Given the description of an element on the screen output the (x, y) to click on. 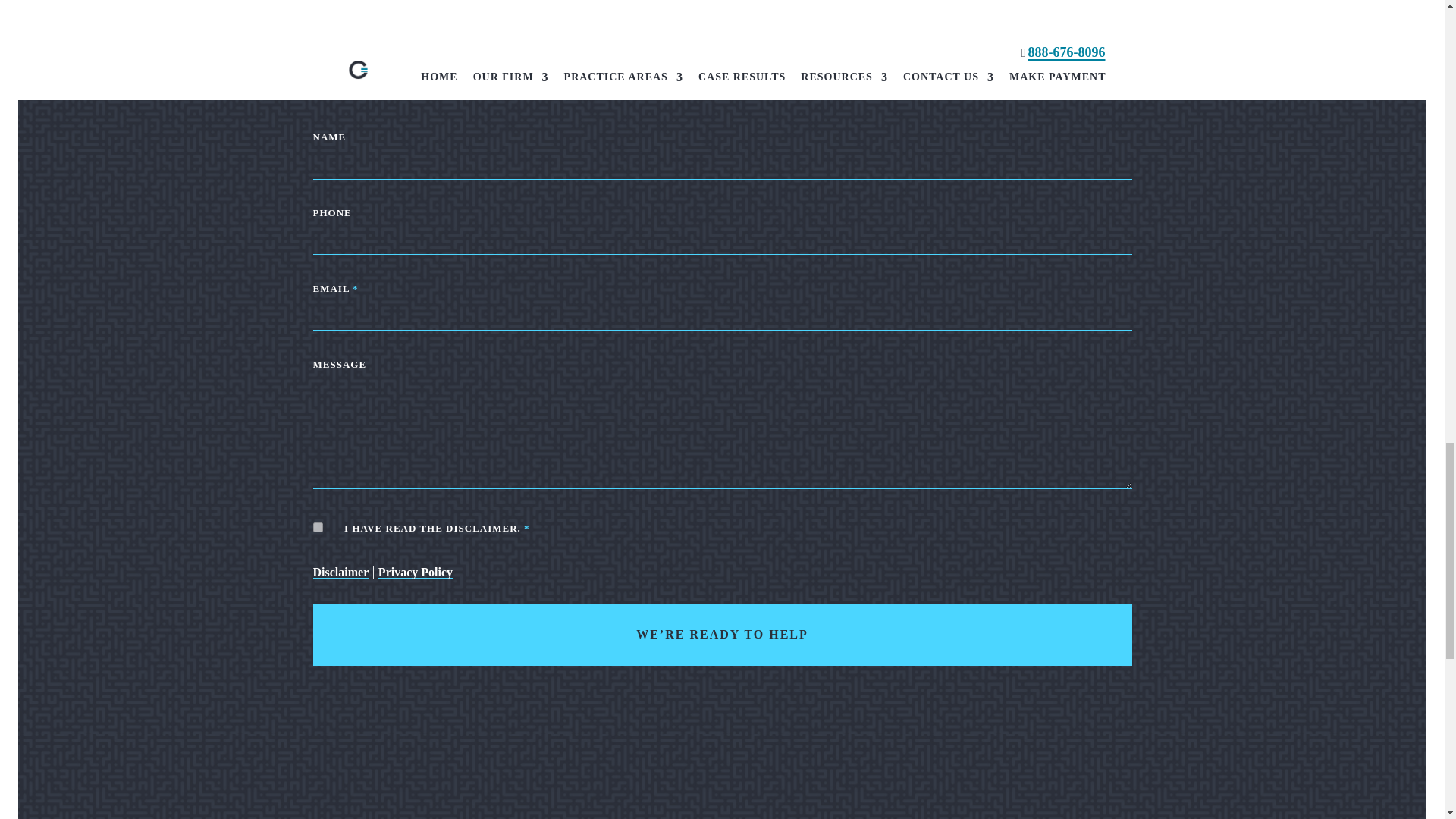
1 (317, 527)
